Given the description of an element on the screen output the (x, y) to click on. 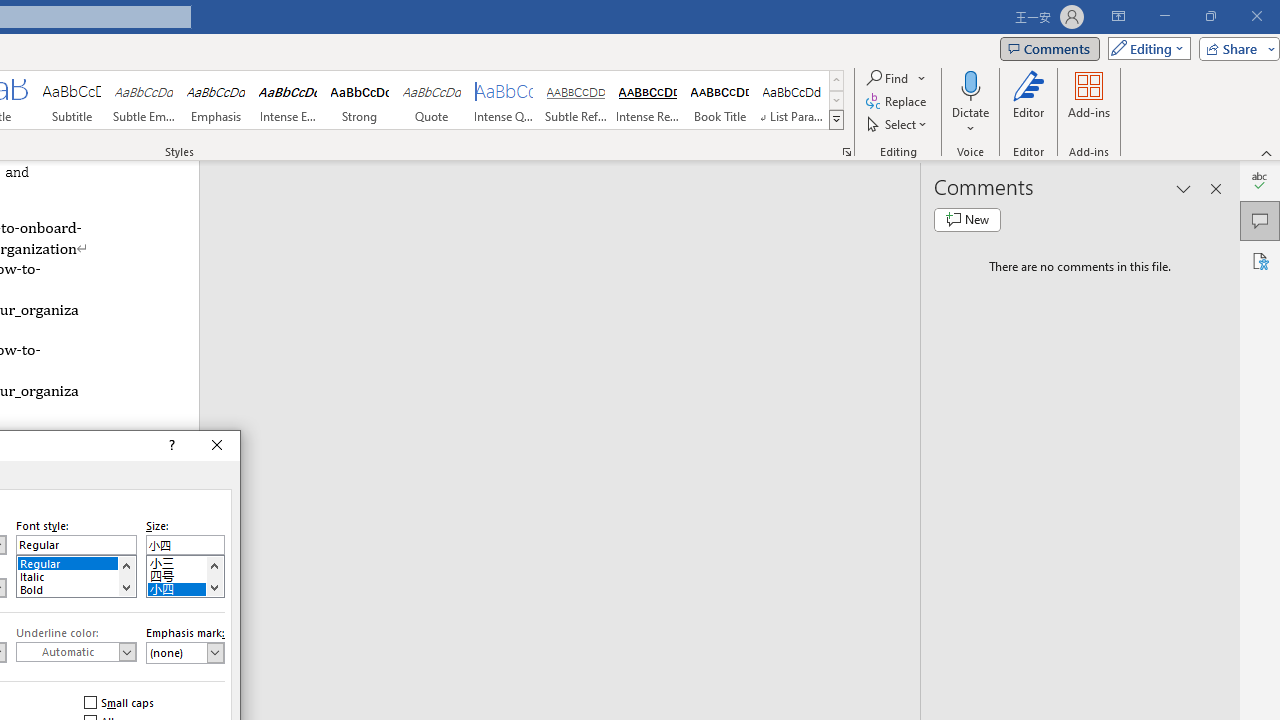
Close (217, 445)
Strong (359, 100)
Task Pane Options (1183, 188)
Book Title (719, 100)
AutomationID: 1795 (125, 576)
Close pane (1215, 188)
Accessibility (1260, 260)
Select (898, 124)
Find (896, 78)
Italic (75, 574)
Editor (1028, 102)
Line down (214, 587)
